Given the description of an element on the screen output the (x, y) to click on. 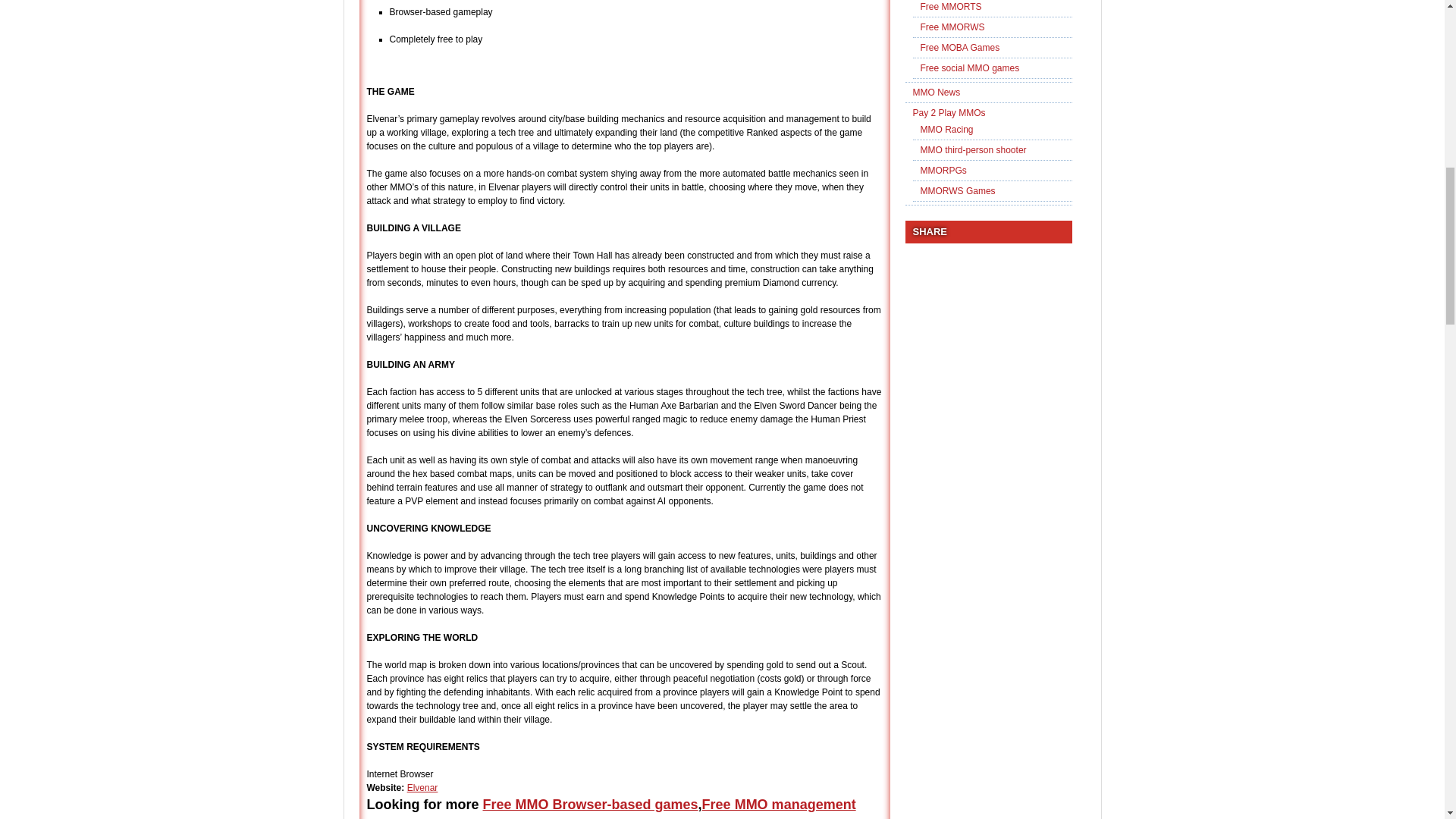
Elvenar (422, 787)
Free MMOs (692, 818)
Elvenar (422, 787)
Free MMORTS (603, 818)
Free MMO Browser-based games (589, 804)
Free MMO management games (611, 807)
Free MMO turn-based (483, 818)
